Given the description of an element on the screen output the (x, y) to click on. 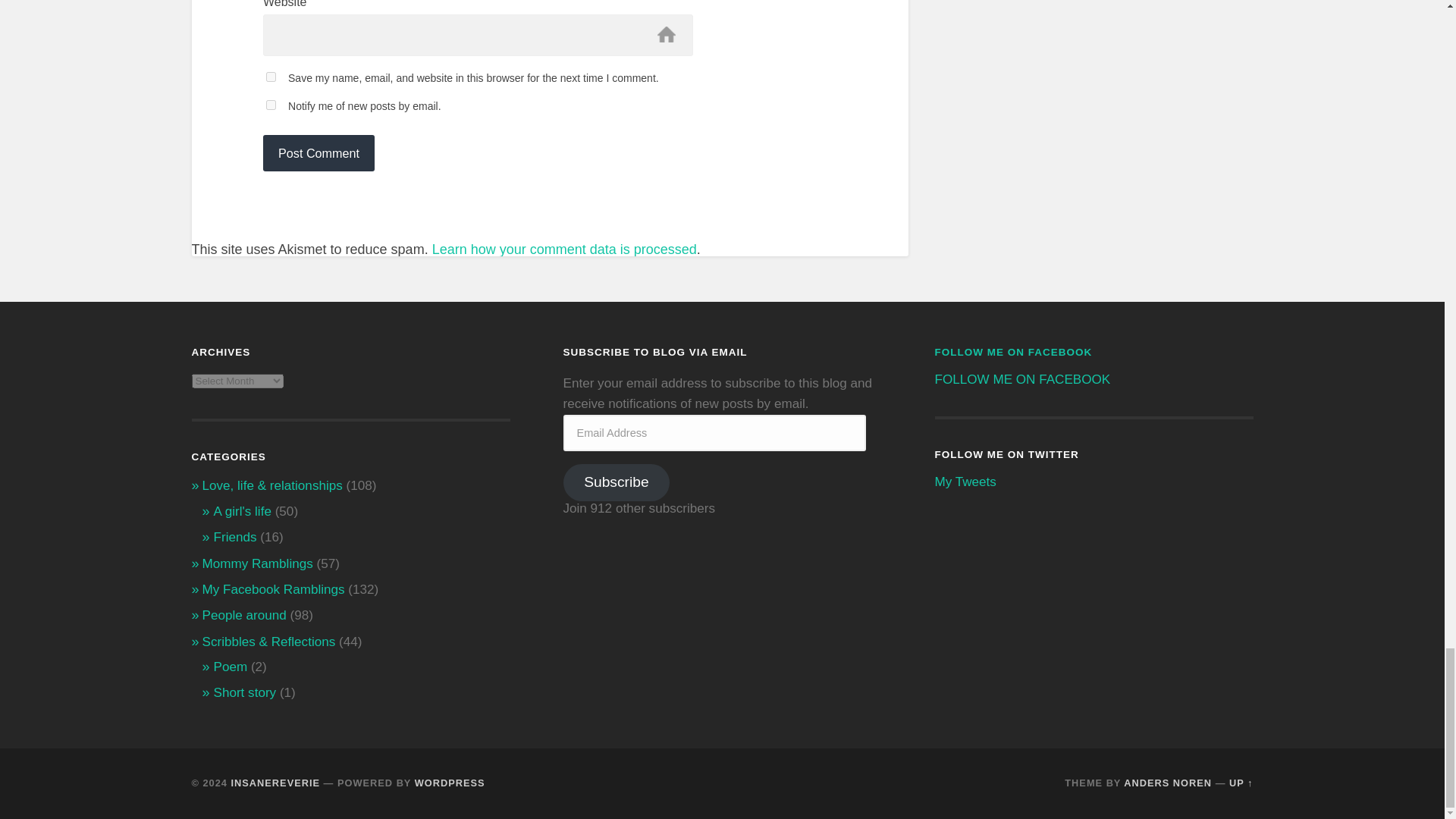
subscribe (271, 104)
Post Comment (318, 153)
Learn how your comment data is processed (564, 249)
yes (271, 76)
Post Comment (318, 153)
